Given the description of an element on the screen output the (x, y) to click on. 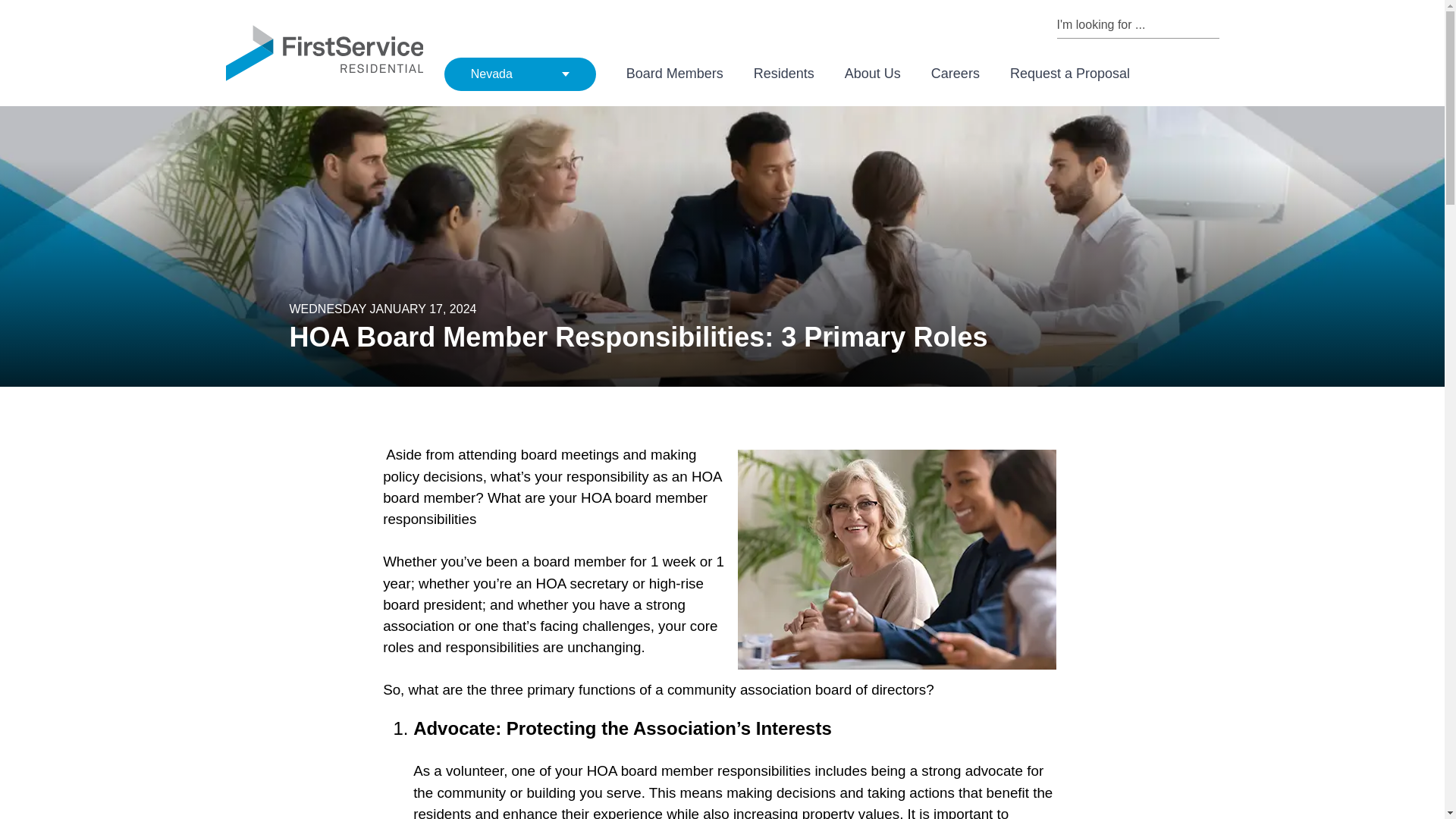
Nevada (519, 73)
3EssentialRoles-teaser.jpg (896, 559)
Submit search (1212, 24)
Board Members (674, 73)
